Given the description of an element on the screen output the (x, y) to click on. 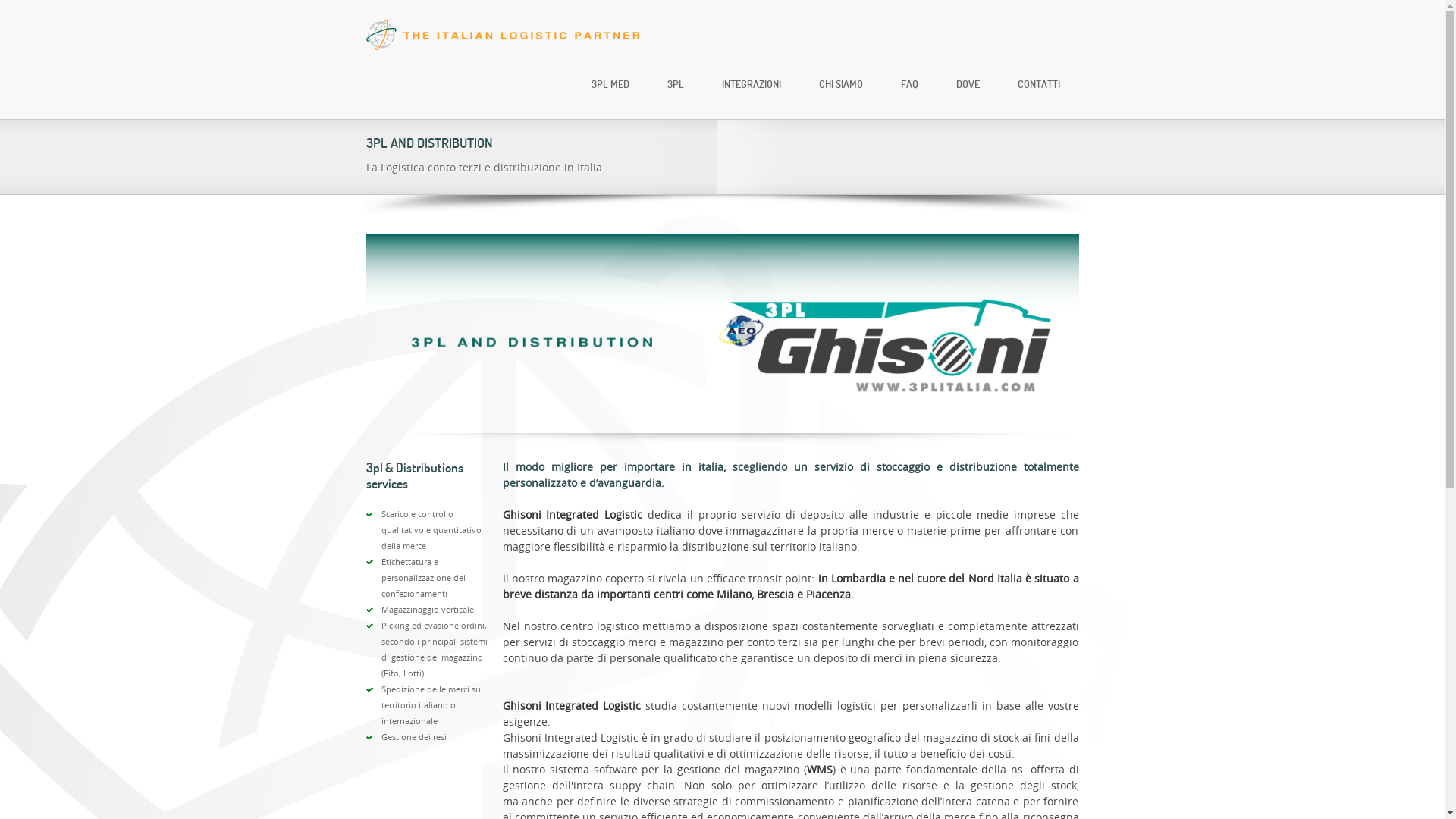
3PL MED Element type: text (609, 83)
Home Element type: hover (501, 34)
DOVE Element type: text (967, 83)
FAQ Element type: text (908, 83)
CHI SIAMO Element type: text (840, 83)
CONTATTI Element type: text (1037, 83)
3PL Element type: text (674, 83)
INTEGRAZIONI Element type: text (750, 83)
